Given the description of an element on the screen output the (x, y) to click on. 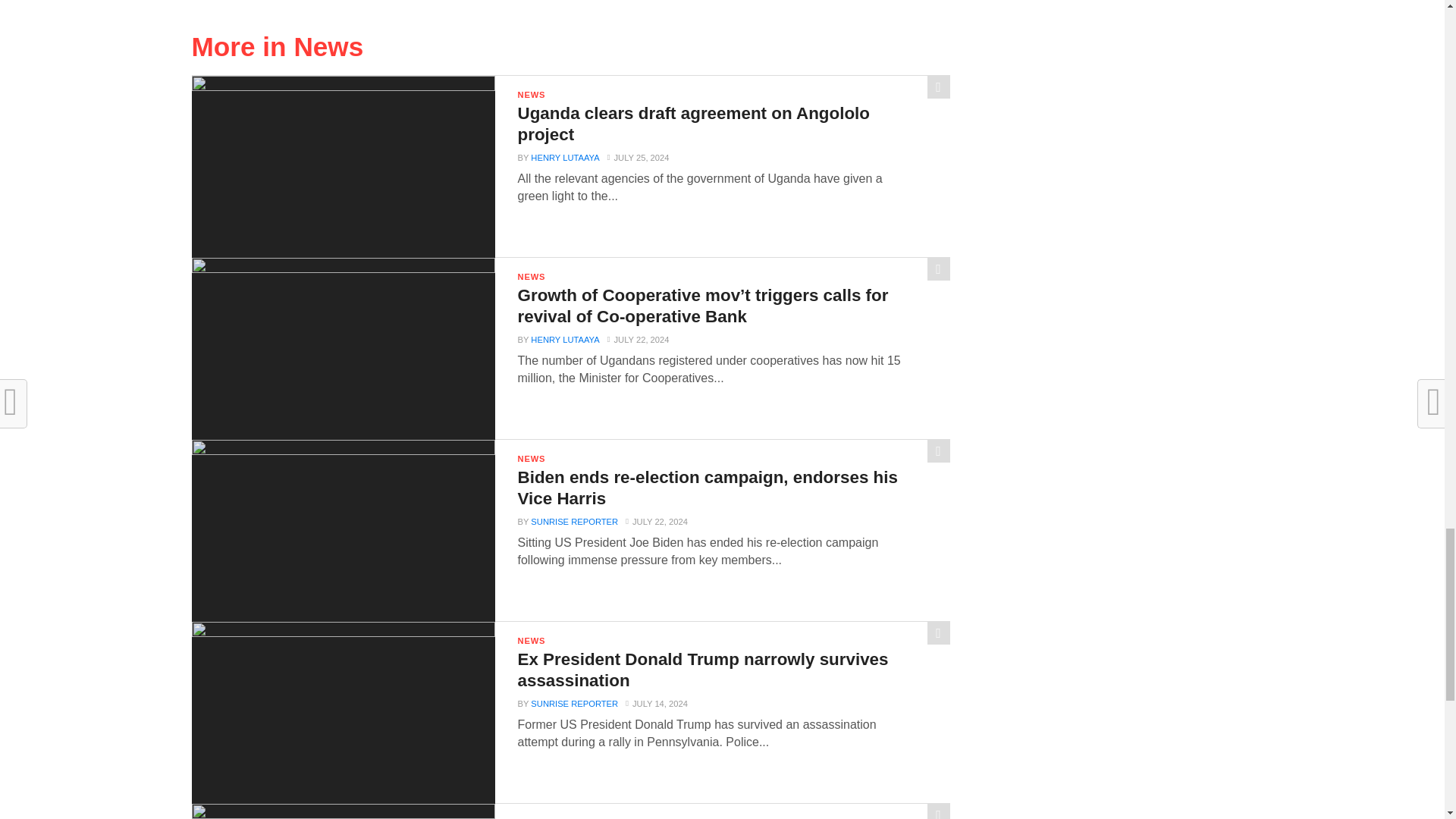
Posts by Henry Lutaaya (564, 157)
